Given the description of an element on the screen output the (x, y) to click on. 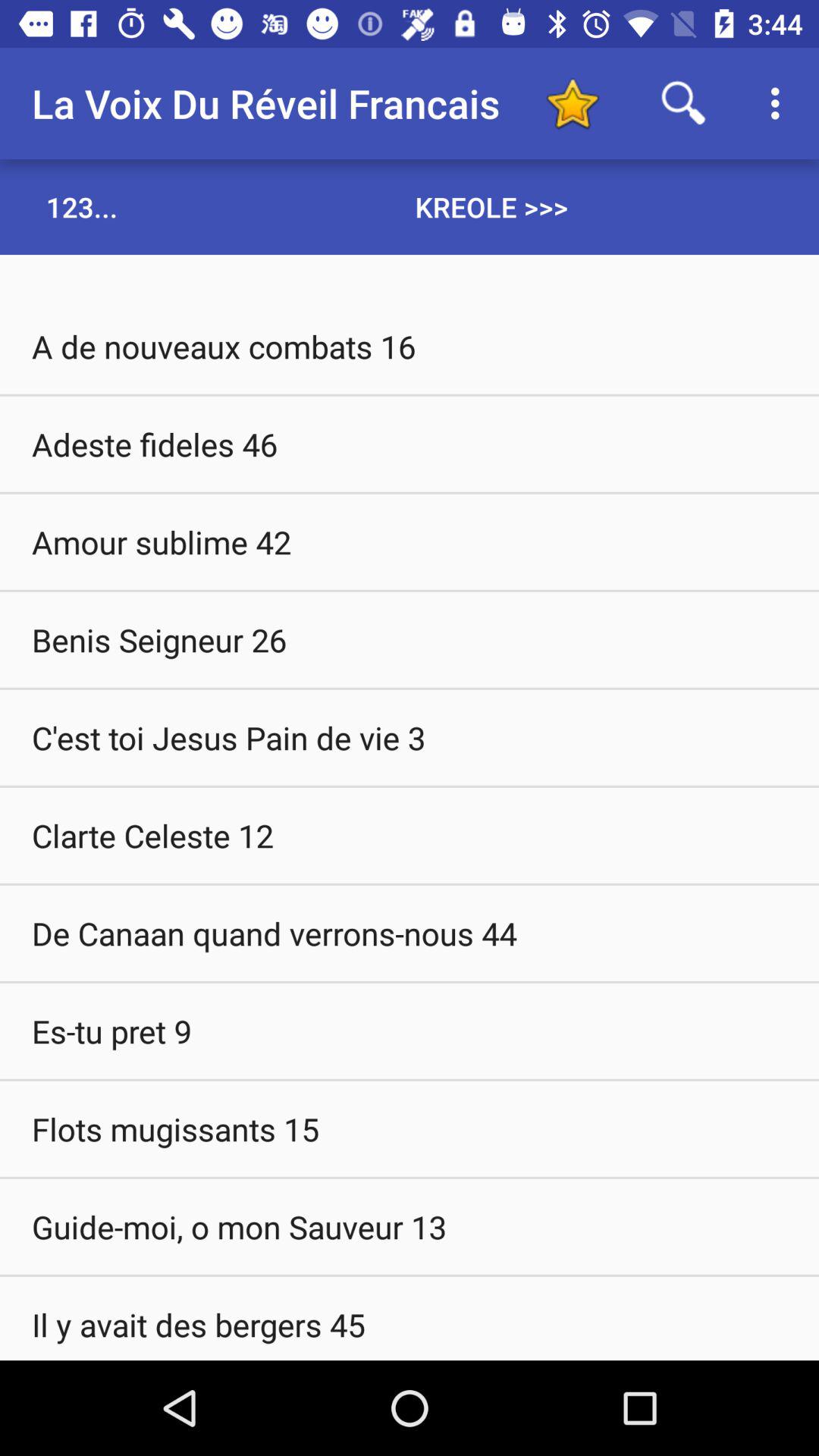
swipe to the es tu pret icon (409, 1030)
